Given the description of an element on the screen output the (x, y) to click on. 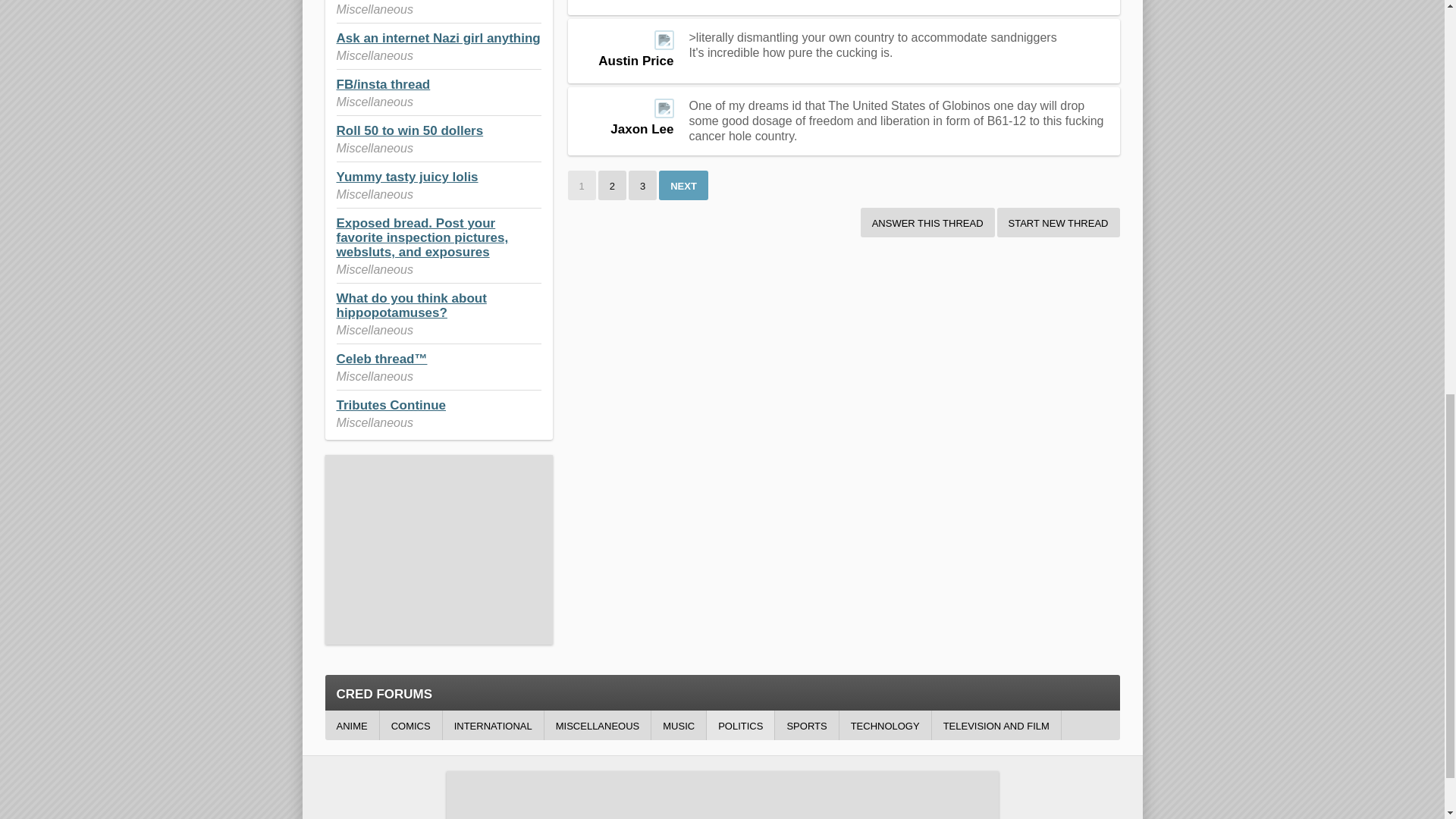
Yummy tasty juicy lolis (407, 176)
Ask an internet Nazi girl anything (438, 38)
NEXT (683, 184)
ANSWER THIS THREAD (927, 222)
2 (612, 184)
Yummy tasty juicy lolis (407, 176)
What do you think about hippopotamuses? (411, 305)
3 (642, 184)
Ask an internet Nazi girl anything (438, 38)
Roll 50 to win 50 dollers (409, 130)
START NEW THREAD (1058, 222)
Roll 50 to win 50 dollers (409, 130)
